Given the description of an element on the screen output the (x, y) to click on. 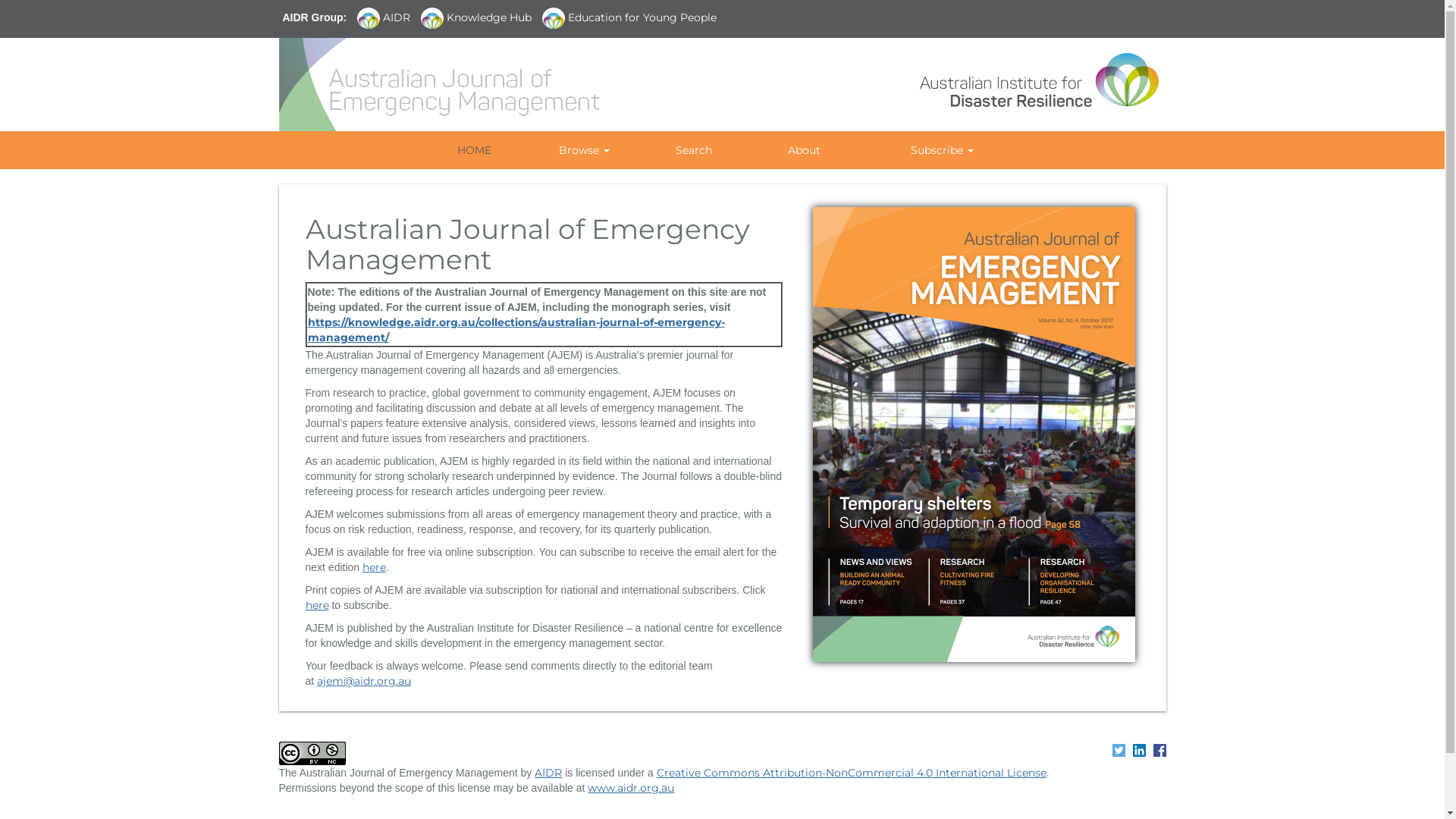
AIDR Element type: text (387, 17)
here Element type: text (373, 567)
Knowledge Hub Element type: text (479, 17)
Browse Element type: text (584, 150)
AIDR Element type: text (547, 772)
Education for Young People Element type: text (633, 17)
About Element type: text (804, 150)
Search Element type: text (693, 150)
ajem@aidr.org.au Element type: text (363, 680)
HOME Element type: text (473, 150)
here Element type: text (316, 604)
www.aidr.org.au Element type: text (630, 787)
Subscribe Element type: text (941, 150)
